Given the description of an element on the screen output the (x, y) to click on. 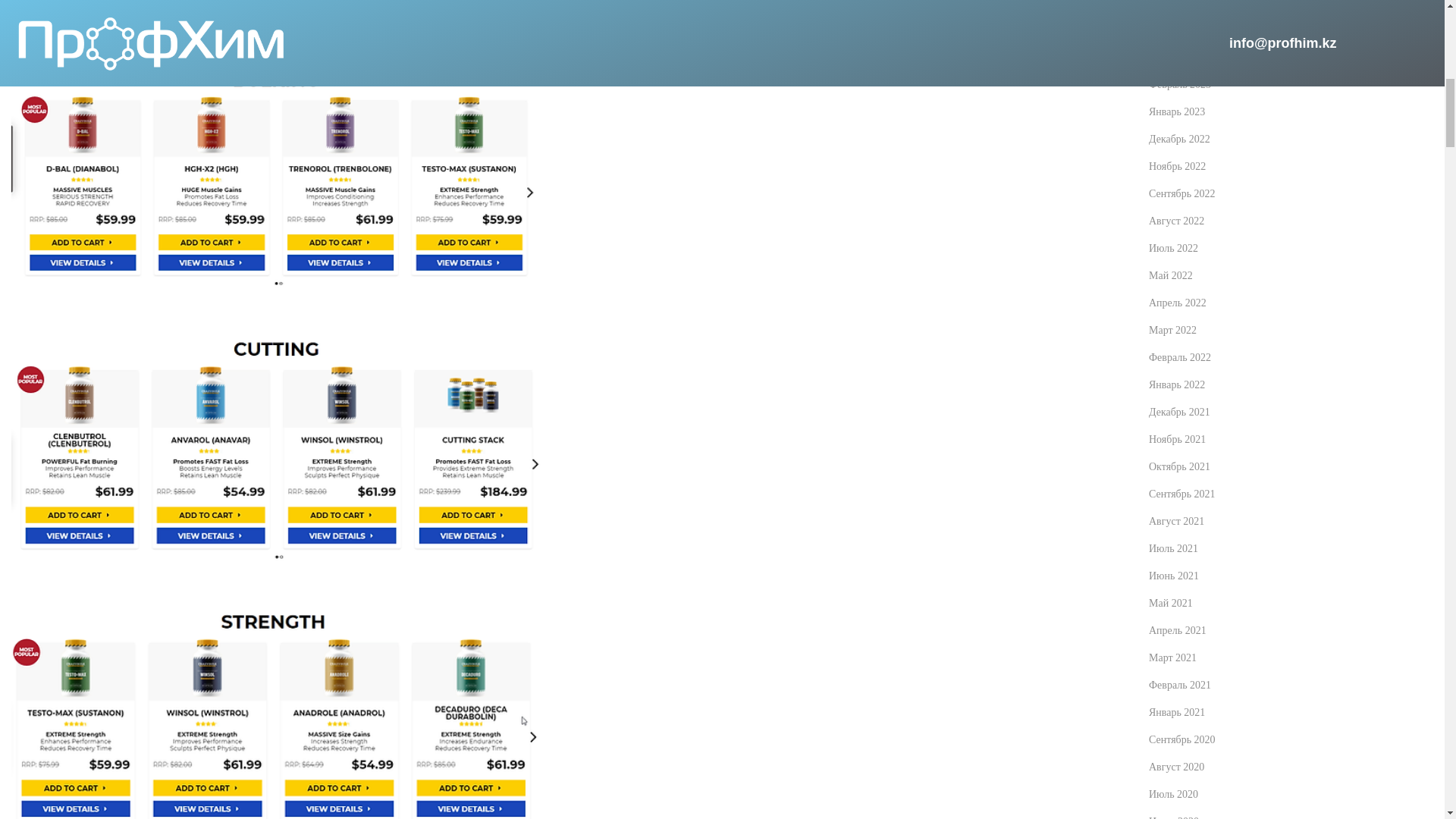
leprosy anti drugs (276, 447)
anti leprosy drugs (276, 710)
